Given the description of an element on the screen output the (x, y) to click on. 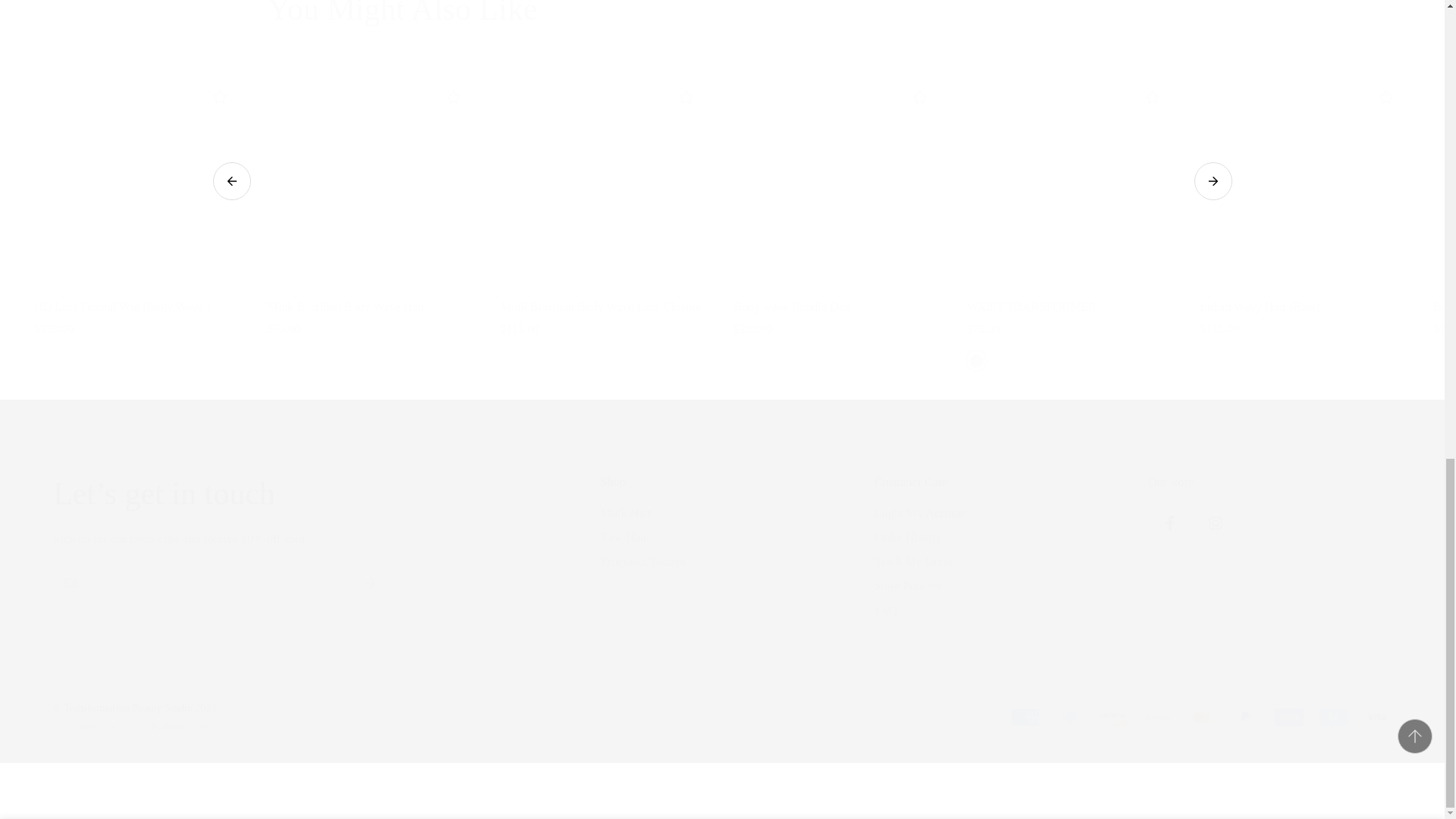
Our store (1269, 510)
You Might Also Like (721, 13)
